Given the description of an element on the screen output the (x, y) to click on. 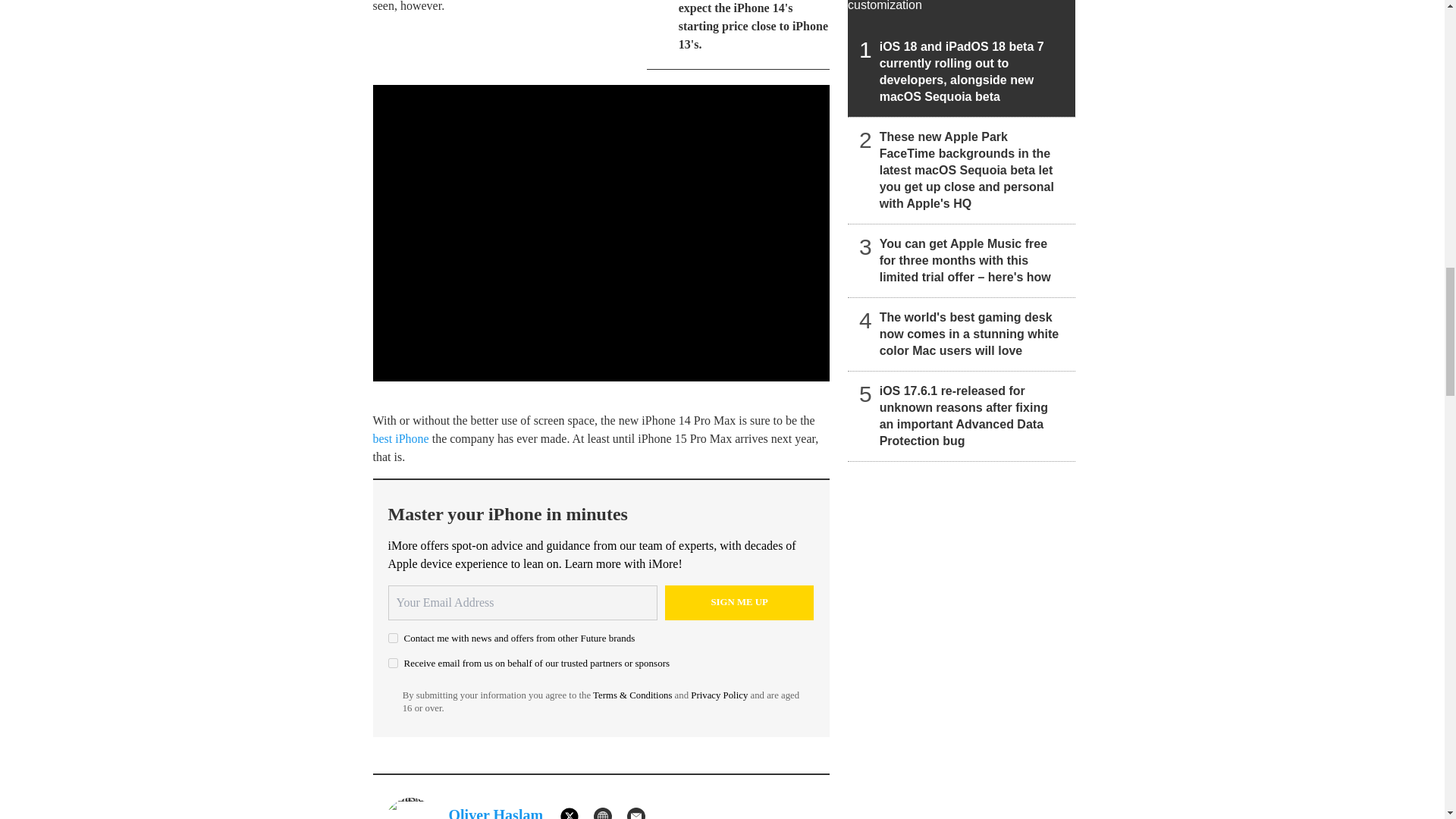
Sign me up (739, 602)
on (392, 663)
on (392, 637)
